Given the description of an element on the screen output the (x, y) to click on. 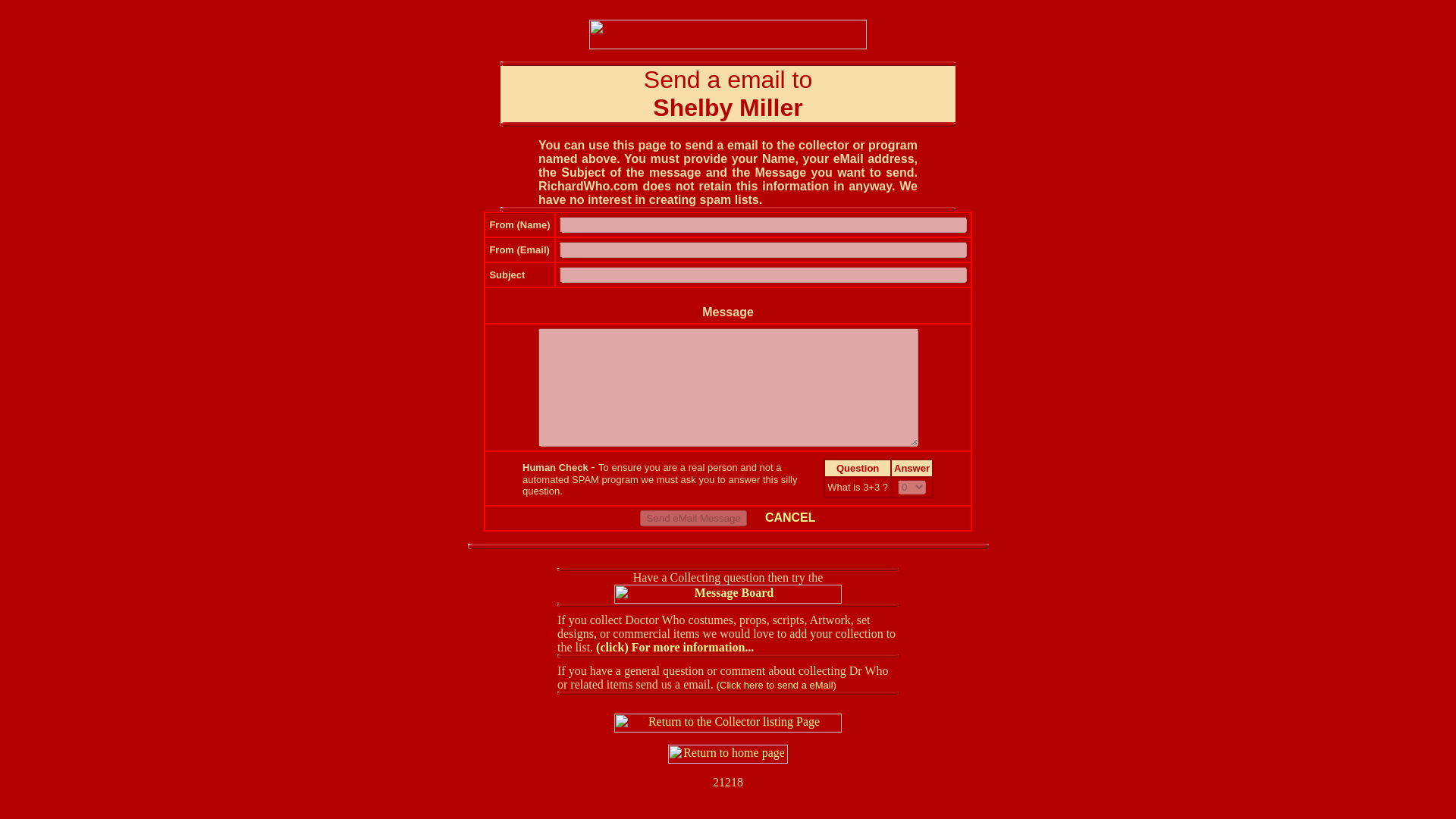
Send eMail Message (692, 518)
Send eMail Message (692, 518)
CANCEL (790, 517)
